Given the description of an element on the screen output the (x, y) to click on. 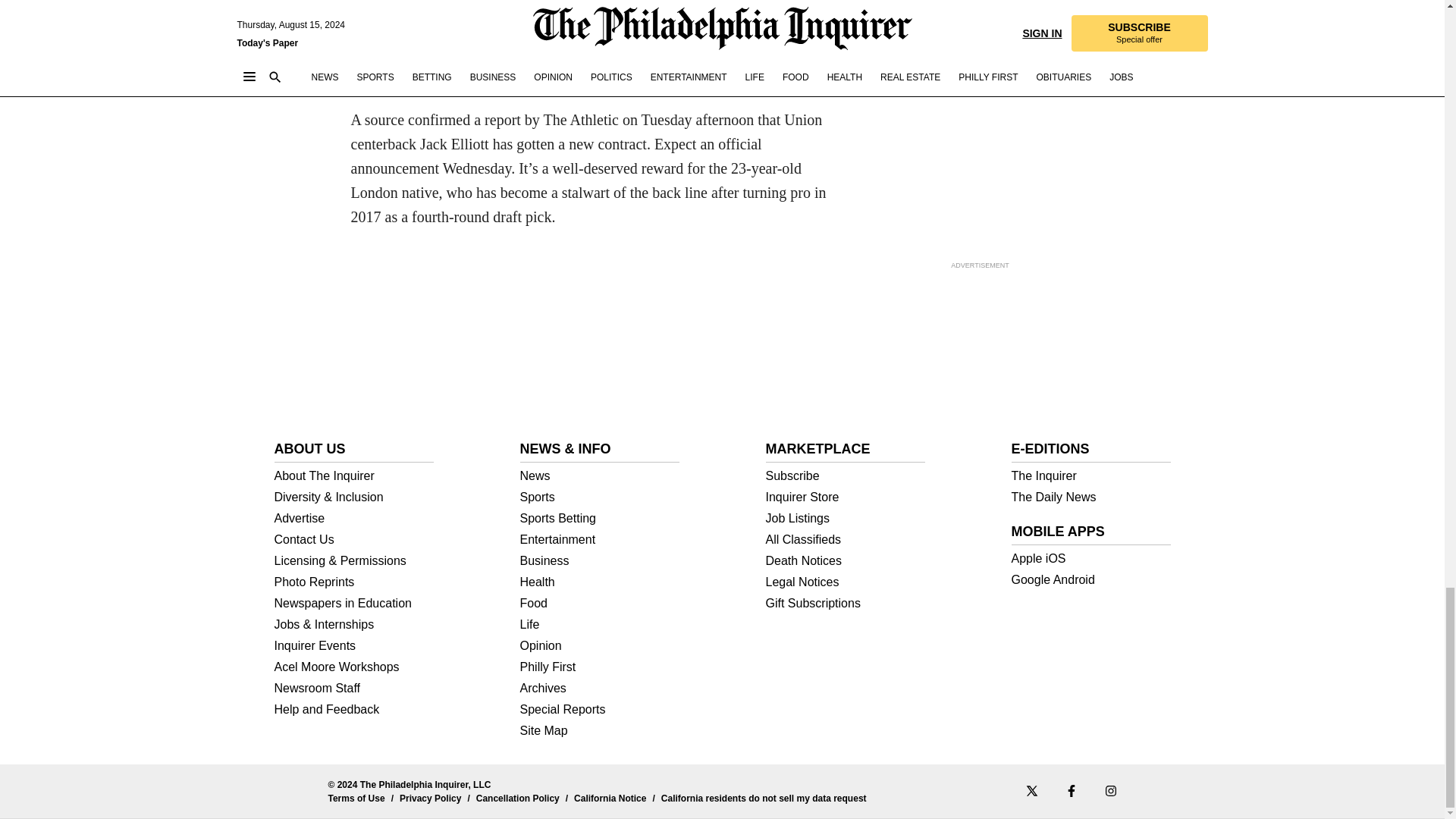
Facebook (1070, 790)
X (1030, 790)
Instagram (1109, 790)
